Given the description of an element on the screen output the (x, y) to click on. 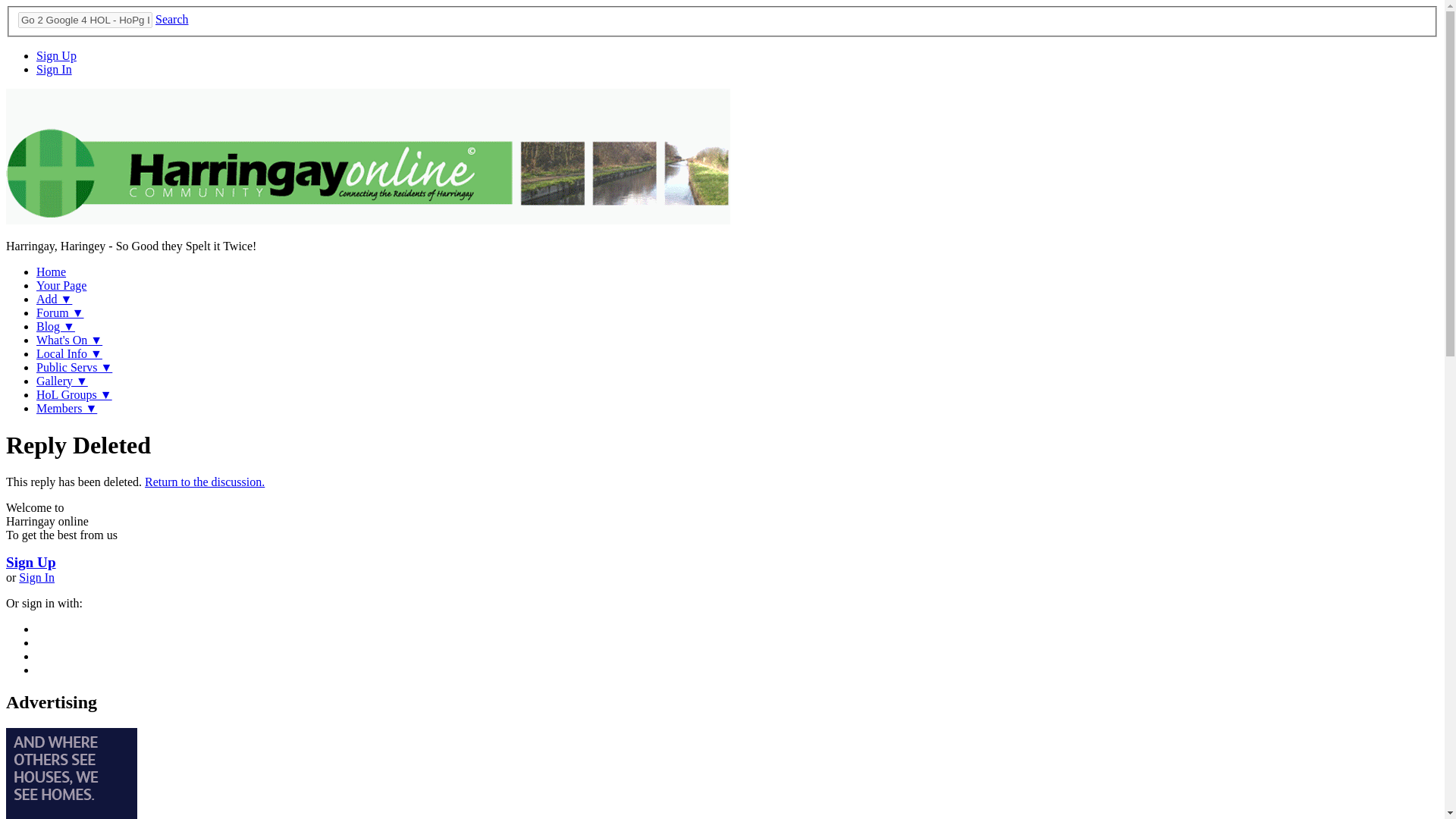
Go 2 Google 4 HOL - HoPg Lft Col (84, 19)
Sign Up (56, 55)
Your Page (60, 285)
Sign In (53, 69)
Go 2 Google 4 HOL - HoPg Lft Col (84, 19)
Search (172, 19)
Home (50, 271)
